Given the description of an element on the screen output the (x, y) to click on. 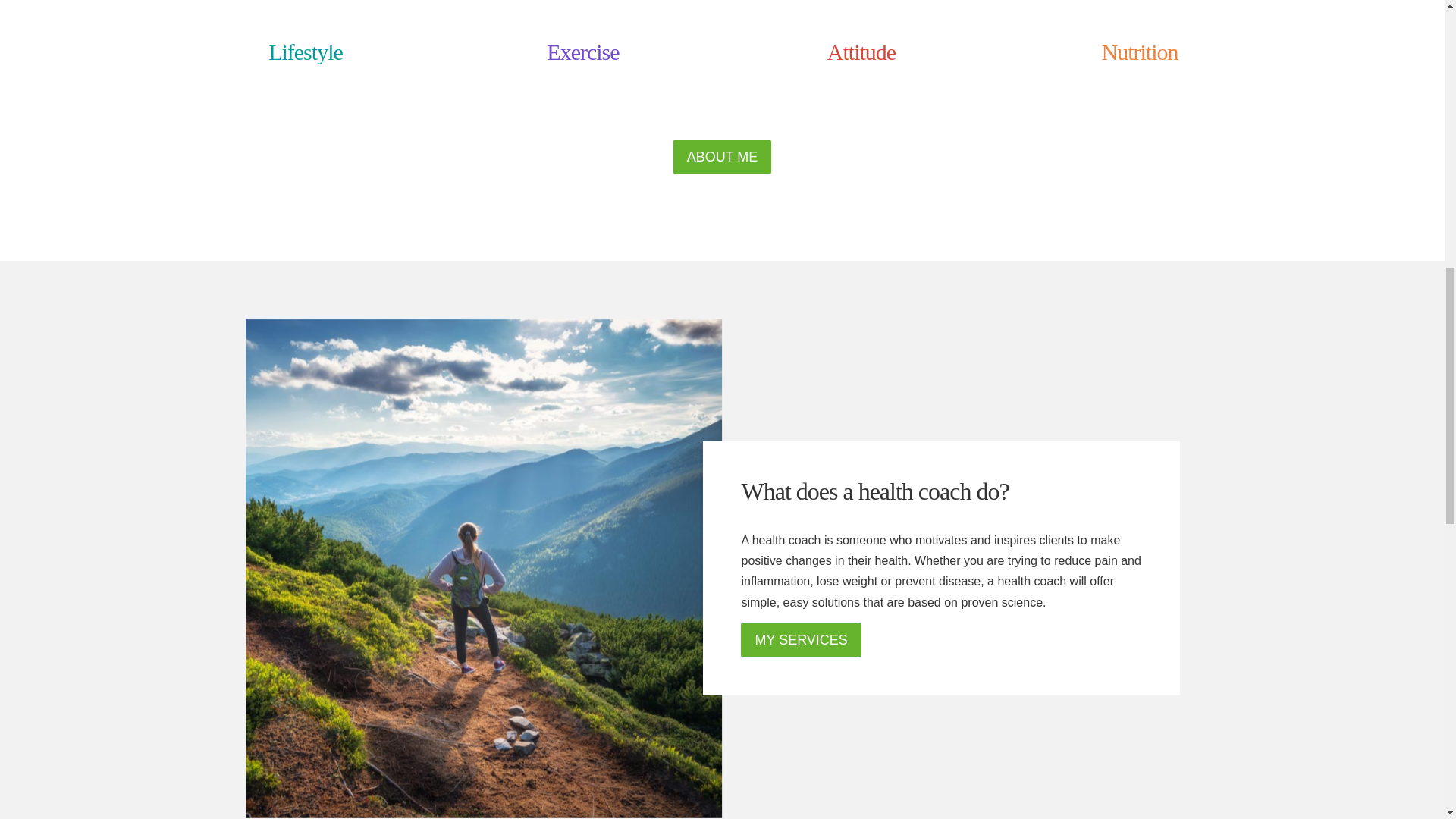
ABOUT ME (721, 157)
MY SERVICES (800, 640)
